Given the description of an element on the screen output the (x, y) to click on. 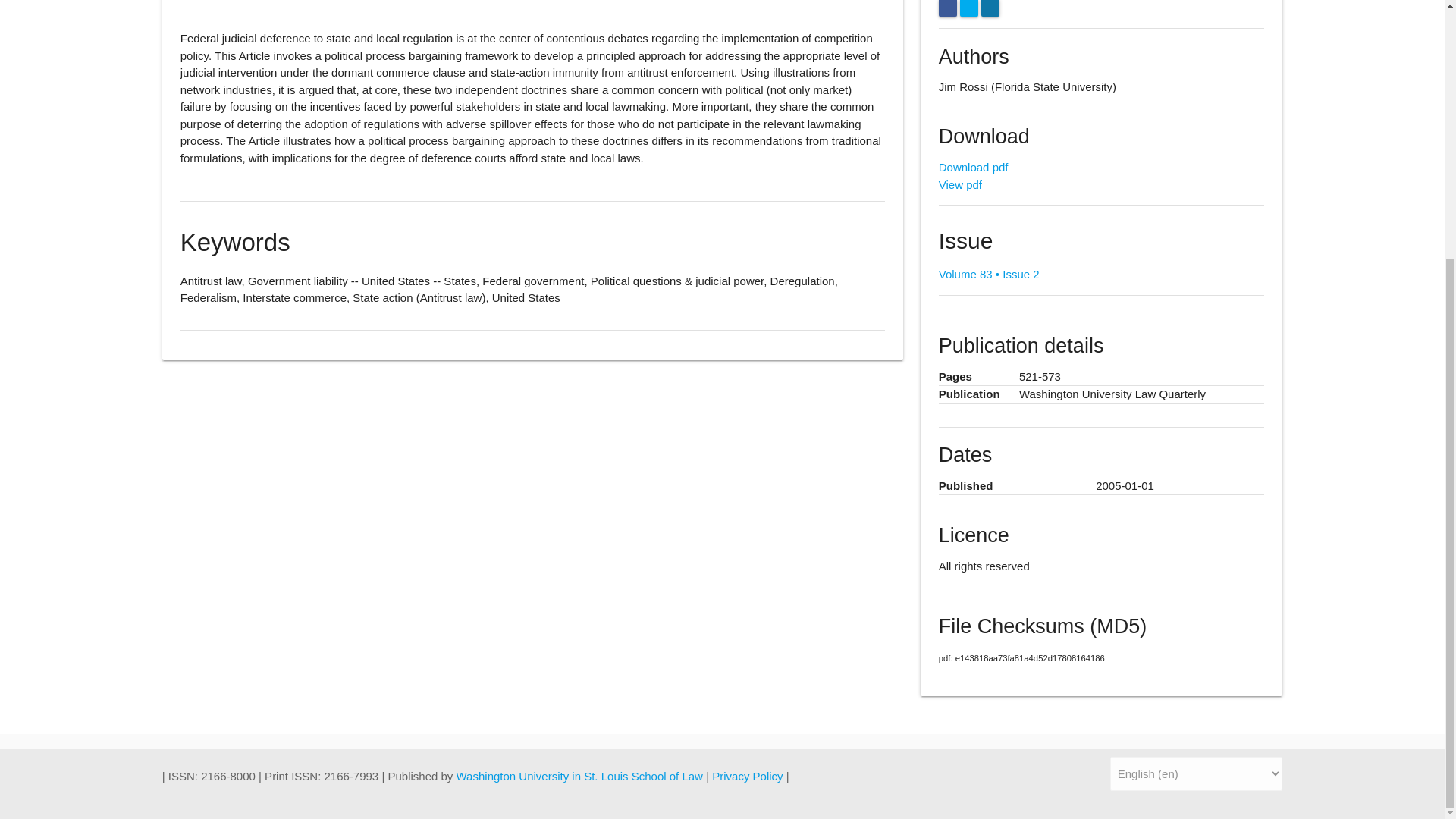
Privacy Policy (748, 775)
Washington University in St. Louis School of Law (581, 775)
Download pdf (974, 166)
View pdf (960, 184)
